Given the description of an element on the screen output the (x, y) to click on. 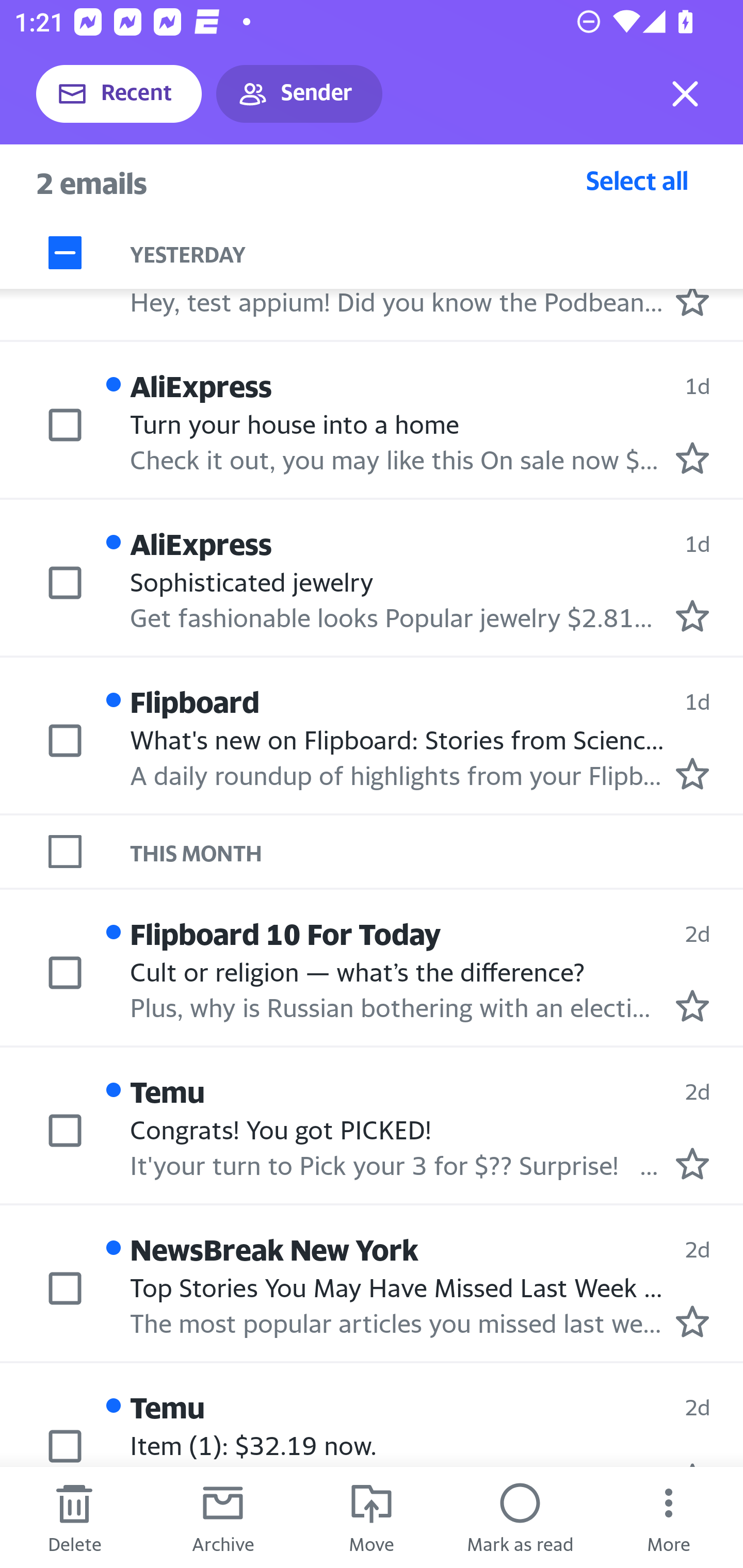
Sender (299, 93)
Exit selection mode (684, 93)
Select all (637, 180)
Mark as starred. (692, 300)
Mark as starred. (692, 458)
Mark as starred. (692, 615)
Mark as starred. (692, 773)
THIS MONTH (436, 851)
Mark as starred. (692, 1005)
Mark as starred. (692, 1164)
Mark as starred. (692, 1321)
Delete (74, 1517)
Archive (222, 1517)
Move (371, 1517)
Mark as read (519, 1517)
More (668, 1517)
